Given the description of an element on the screen output the (x, y) to click on. 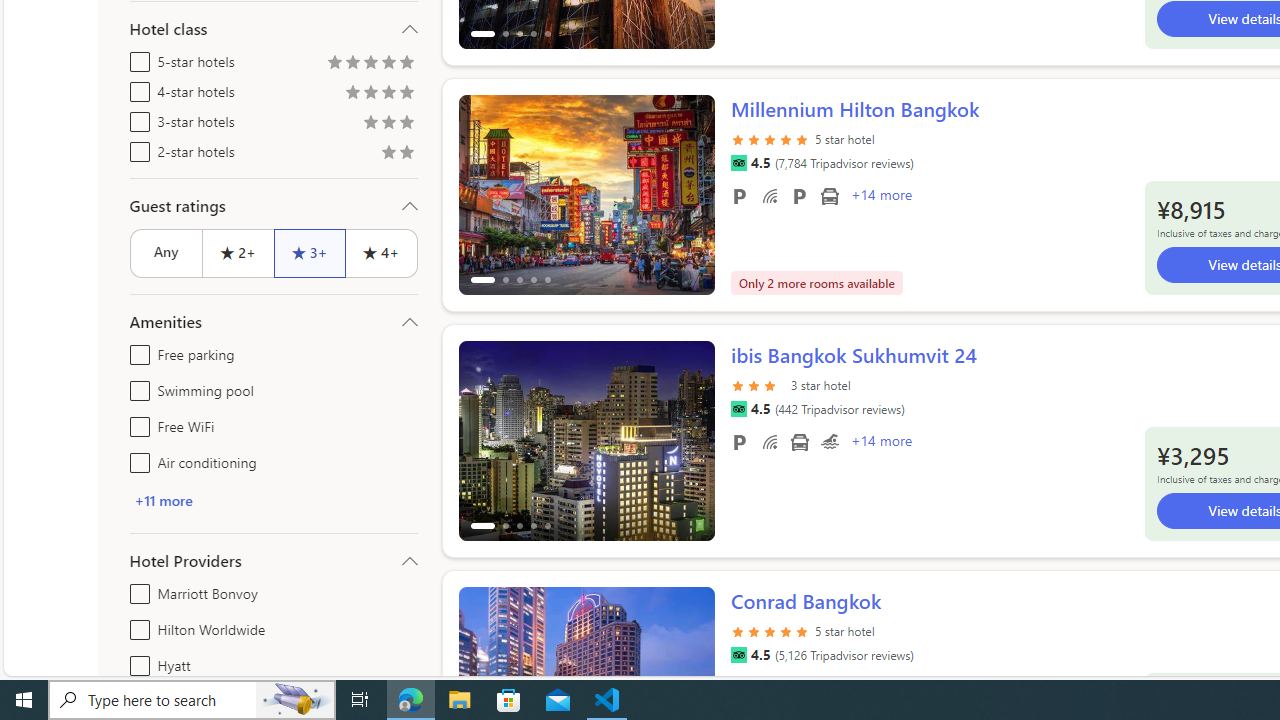
Swimming pool (136, 386)
2-star hotels (136, 147)
Free WiFi (769, 441)
Hilton Worldwide (136, 625)
2+ (236, 252)
Slide 1 (586, 440)
Swimming pool (829, 441)
Free WiFi (136, 422)
5-star hotels (136, 57)
3-star hotels (136, 118)
Marriott Bonvoy (136, 589)
Hotel class (273, 29)
Airport transportation (798, 441)
ScrollLeft (482, 678)
Free parking (136, 350)
